Given the description of an element on the screen output the (x, y) to click on. 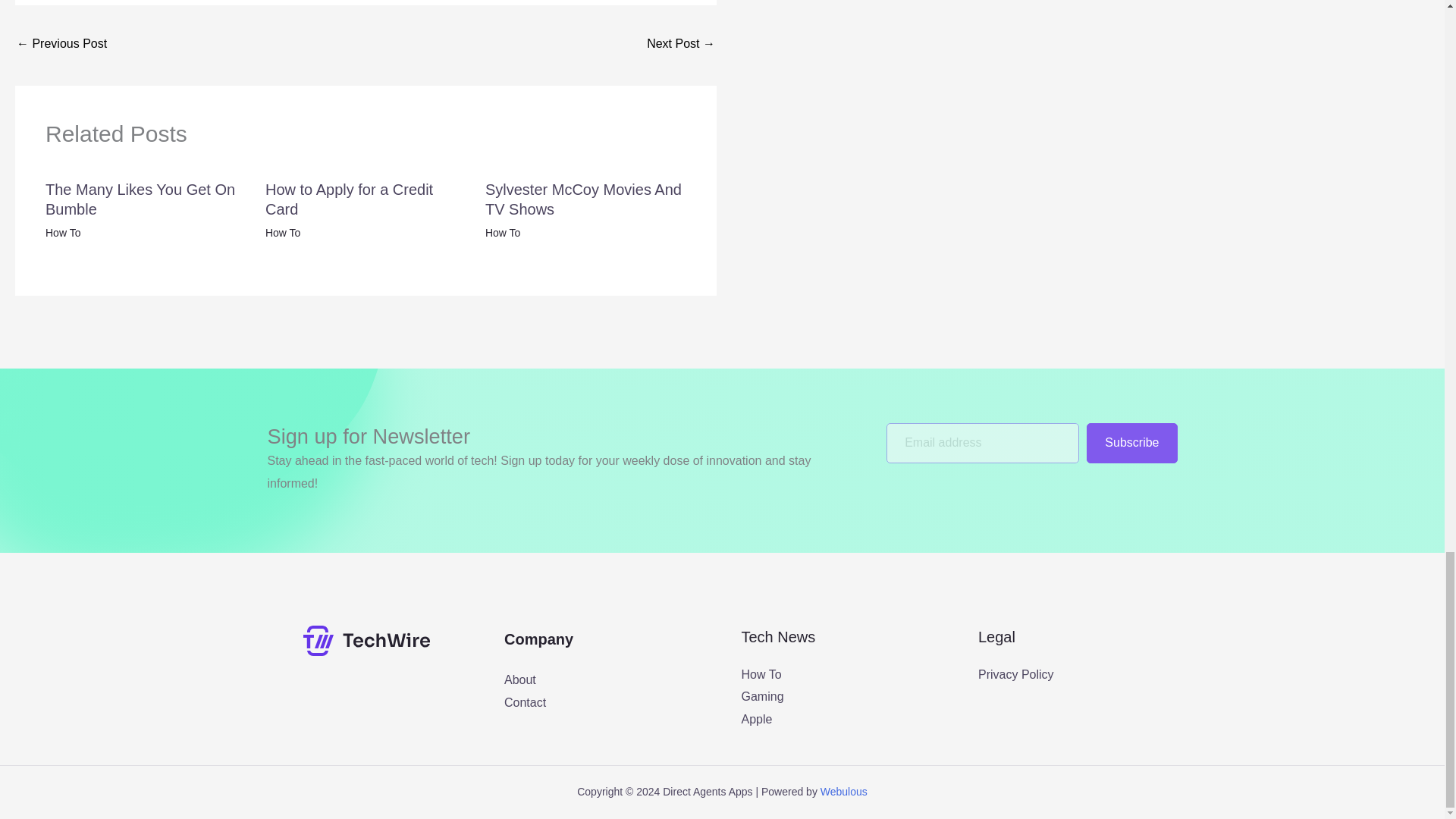
Webulous (844, 791)
About (519, 680)
How To (281, 232)
How to Store Cilantro (61, 44)
Privacy Policy (1016, 674)
Contact (524, 702)
The Many Likes You Get On Bumble (139, 198)
Subscribe (1131, 443)
Sylvester McCoy Movies And TV Shows (582, 198)
How To (761, 674)
